Given the description of an element on the screen output the (x, y) to click on. 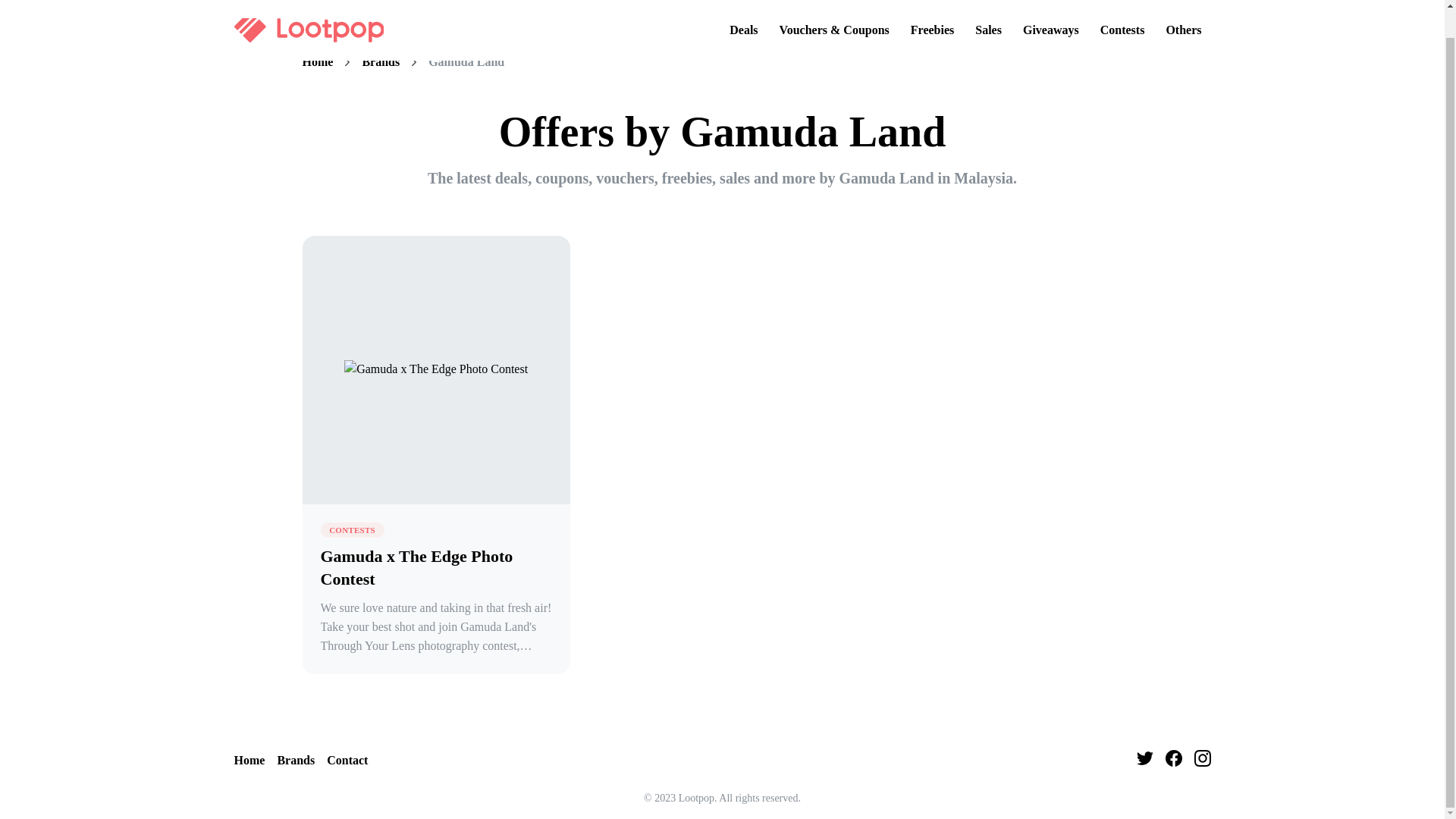
Brands (379, 61)
Contact (347, 760)
Freebies (931, 7)
Deals (743, 7)
Contests (1122, 7)
Home (248, 760)
Giveaways (1050, 7)
Home (317, 61)
Sales (988, 7)
Others (1182, 7)
